Given the description of an element on the screen output the (x, y) to click on. 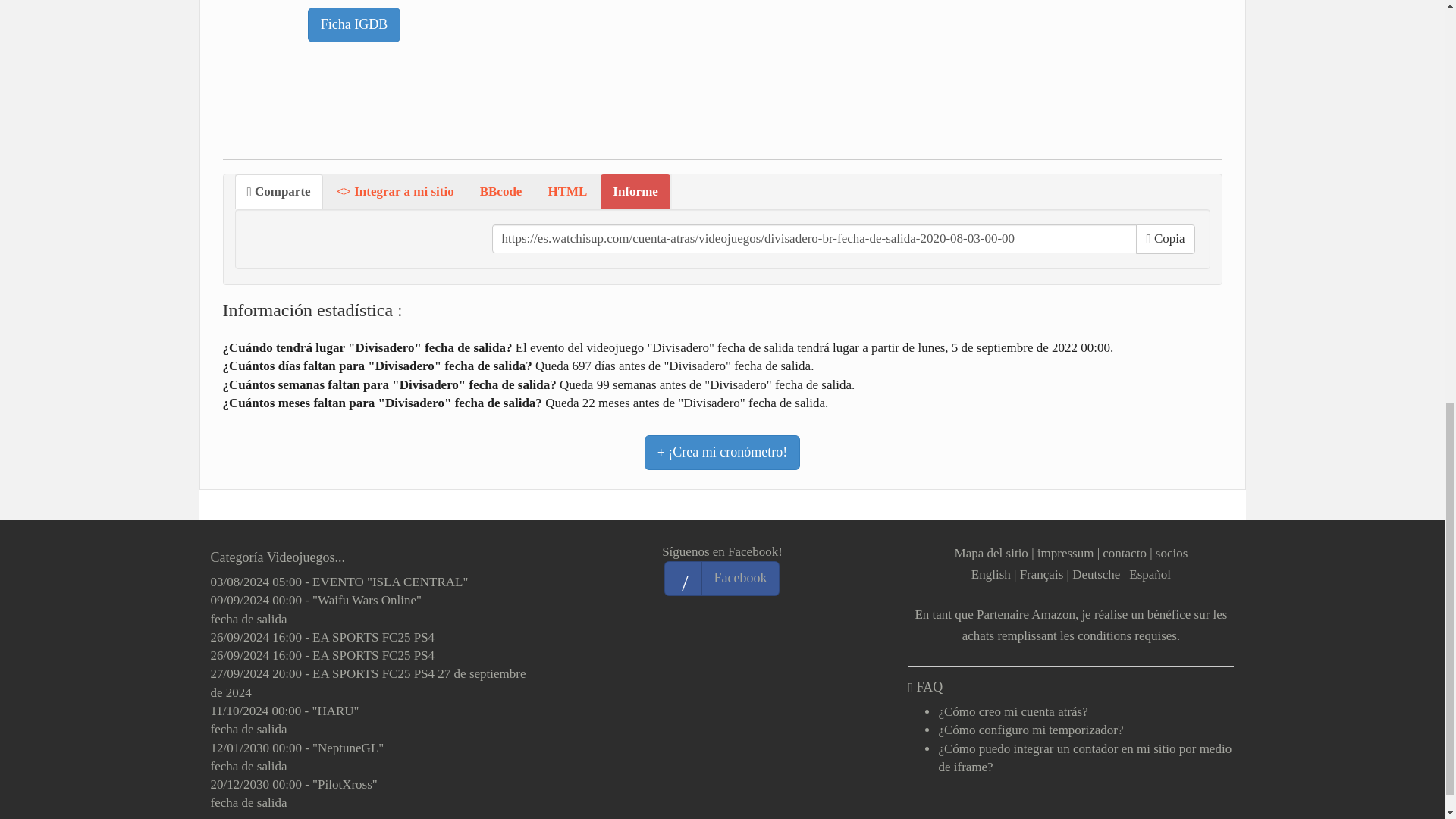
HTML (566, 191)
 Copia (1164, 238)
 Comparte (278, 191)
Informe (634, 191)
Ficha IGDB (354, 24)
BBcode (500, 191)
